Given the description of an element on the screen output the (x, y) to click on. 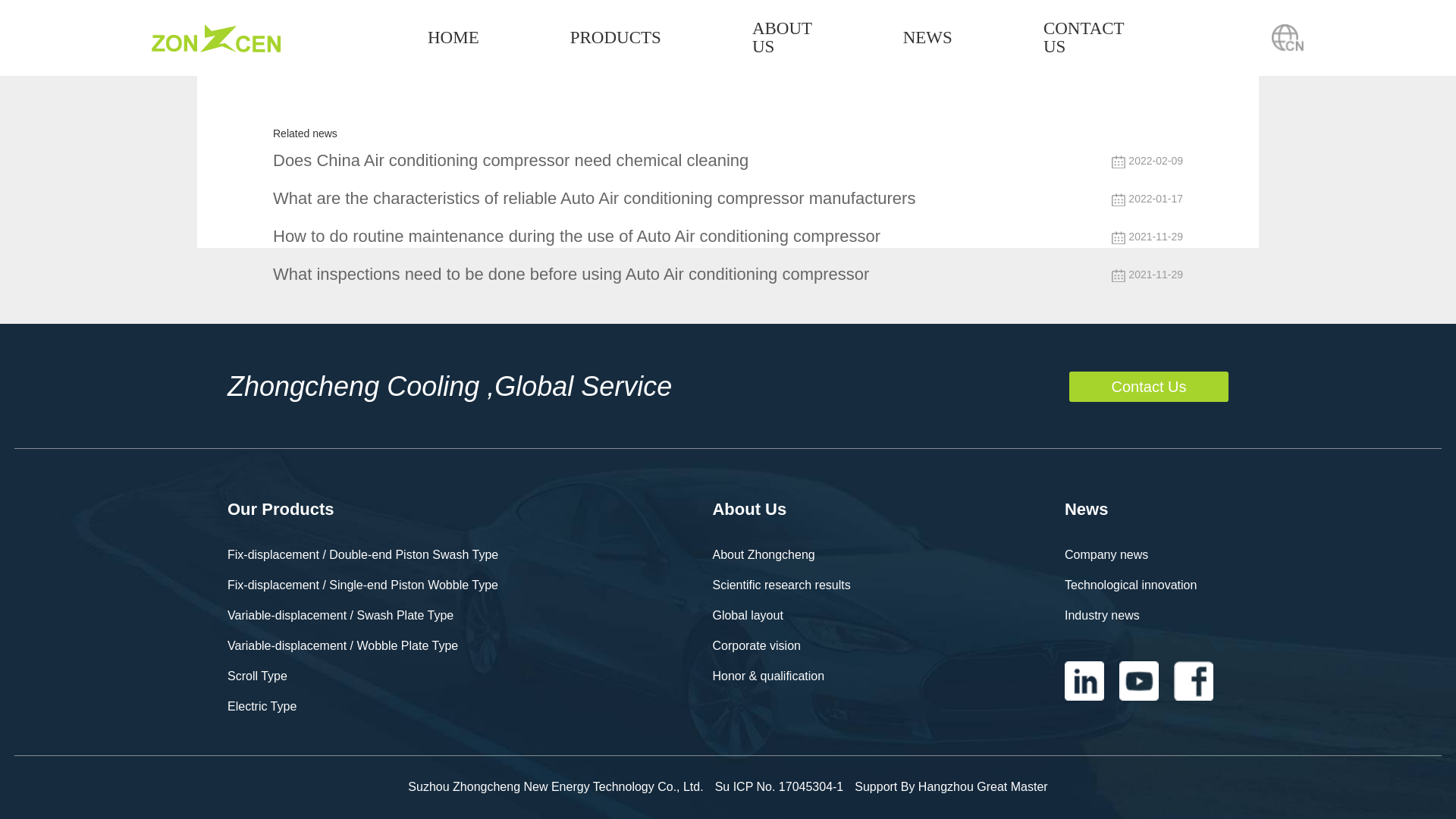
Global layout (780, 615)
About Zhongcheng (780, 554)
Company news (1146, 554)
Technological innovation (1146, 585)
Corporate vision (780, 645)
Industry news (1146, 615)
Scientific research results (780, 585)
Contact Us (1148, 386)
